Given the description of an element on the screen output the (x, y) to click on. 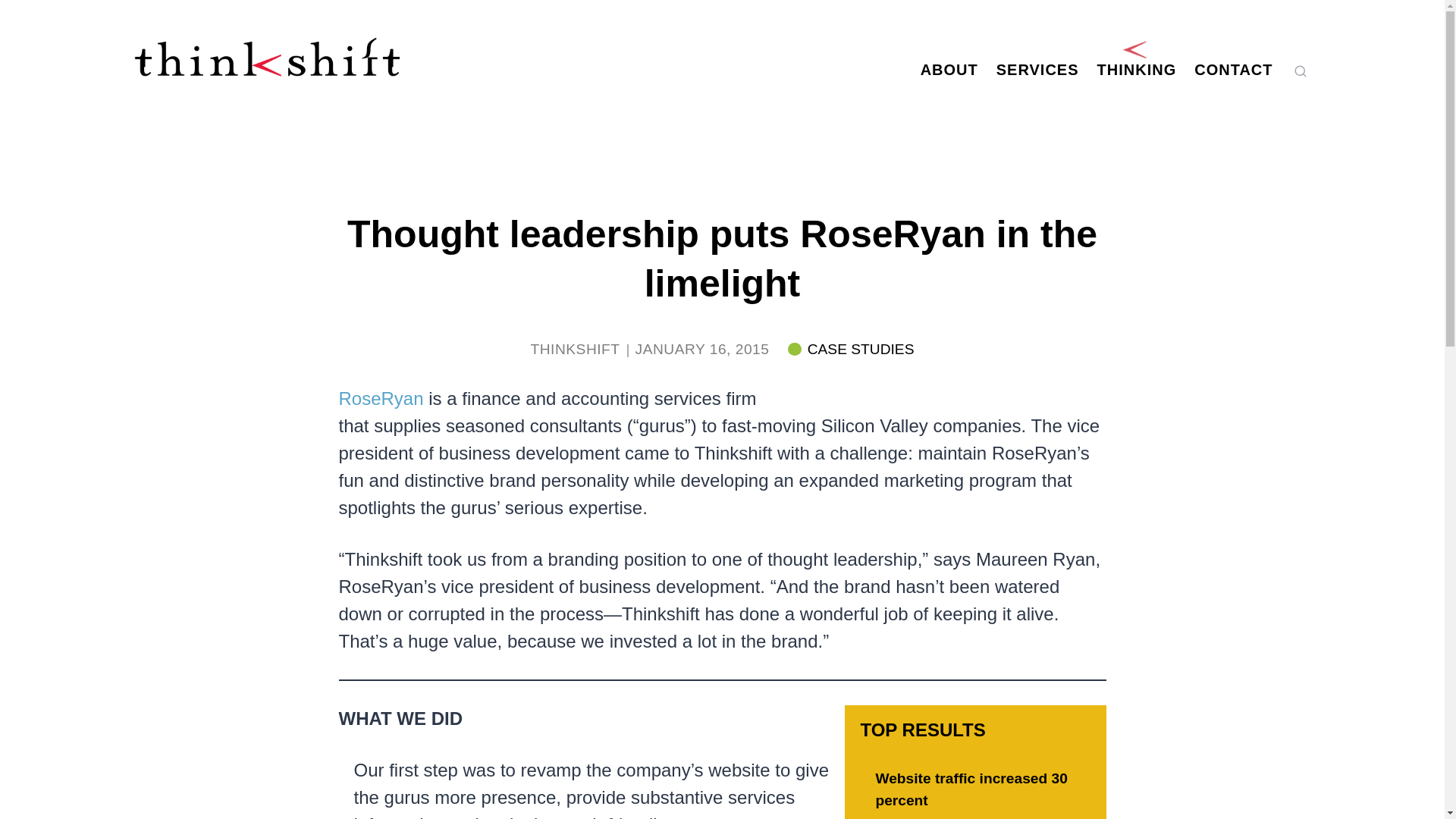
ABOUT (949, 69)
CASE STUDIES (850, 349)
THINKING (1136, 69)
RoseRyan (380, 398)
SERVICES (1037, 69)
CONTACT (1233, 69)
